Given the description of an element on the screen output the (x, y) to click on. 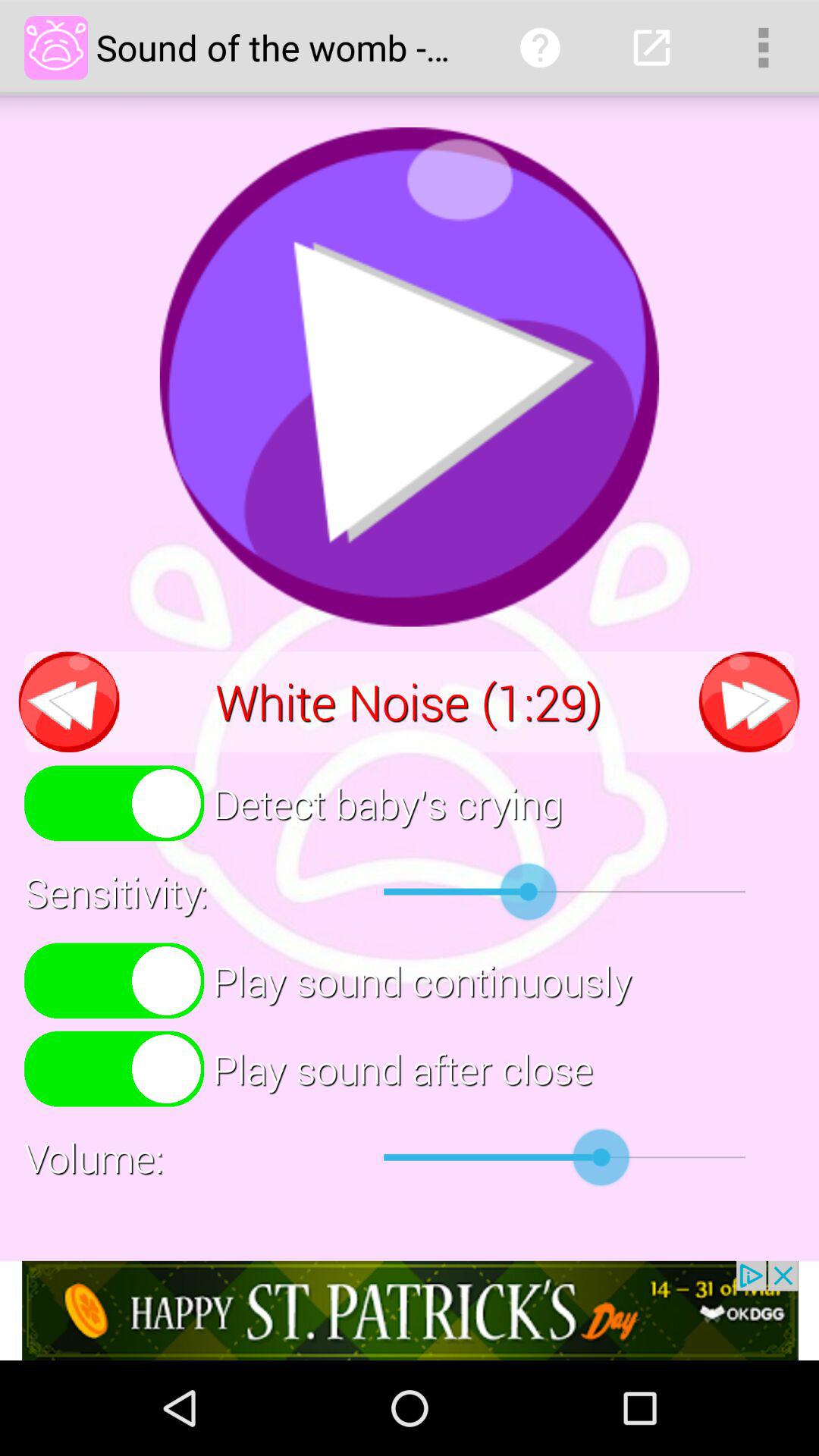
next page (749, 701)
